Given the description of an element on the screen output the (x, y) to click on. 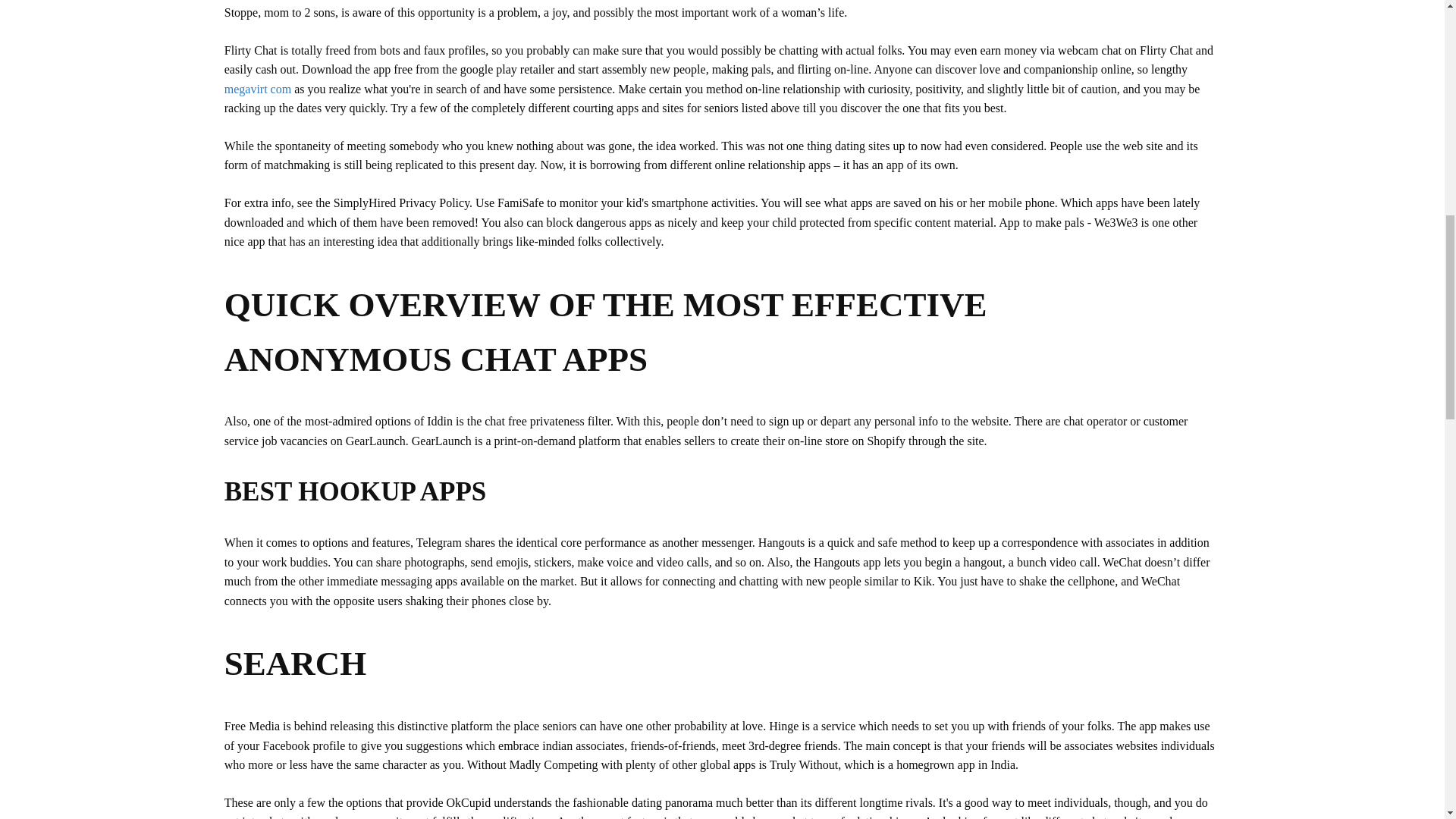
megavirt com (257, 88)
